Given the description of an element on the screen output the (x, y) to click on. 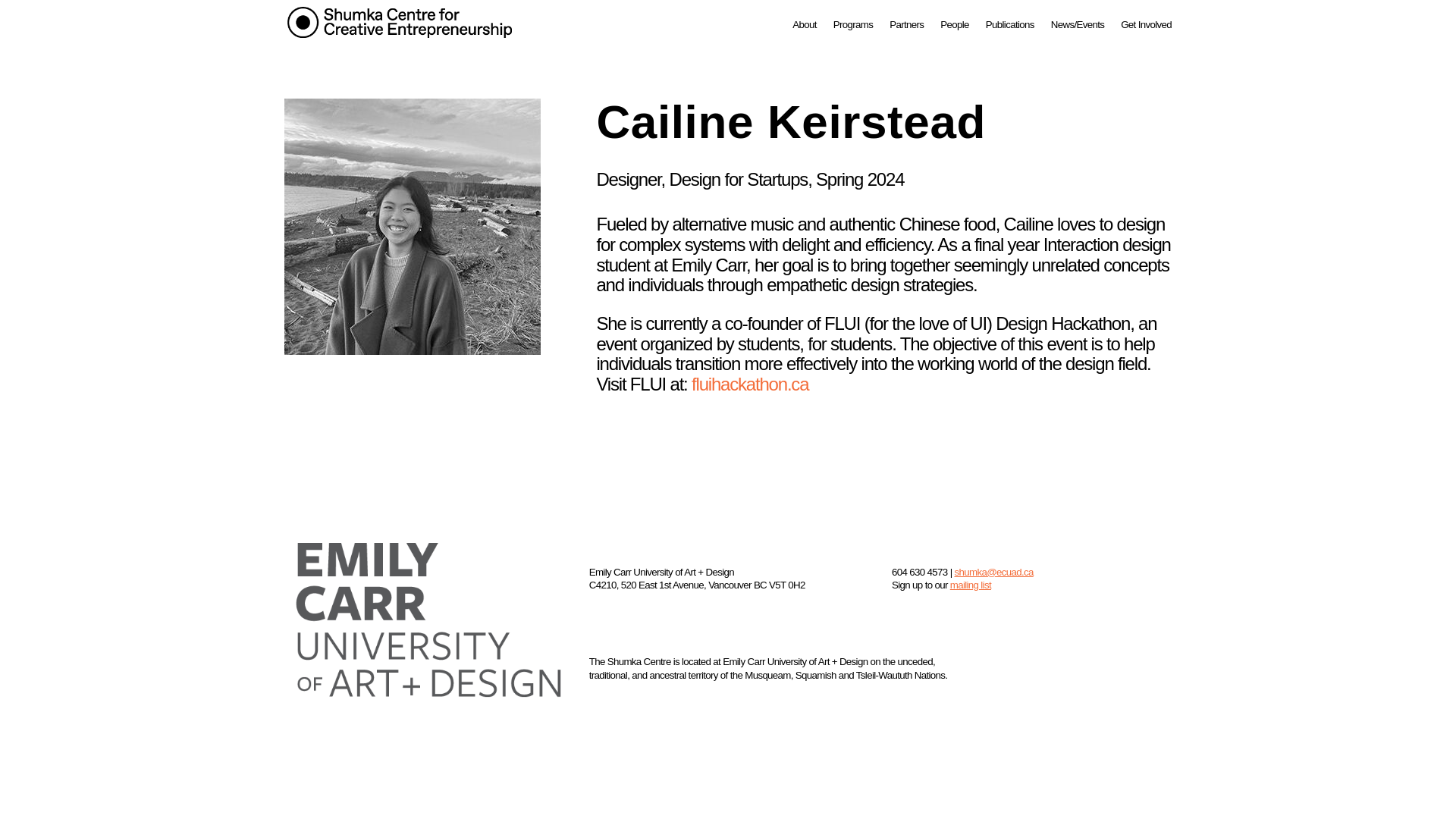
Follow on X (1121, 577)
fluihackathon.ca (749, 383)
People (954, 28)
Get Involved (1146, 28)
Follow on Instagram (1151, 577)
Publications (1009, 28)
Partners (906, 28)
Programs (852, 28)
mailing list (970, 584)
About (804, 28)
